Given the description of an element on the screen output the (x, y) to click on. 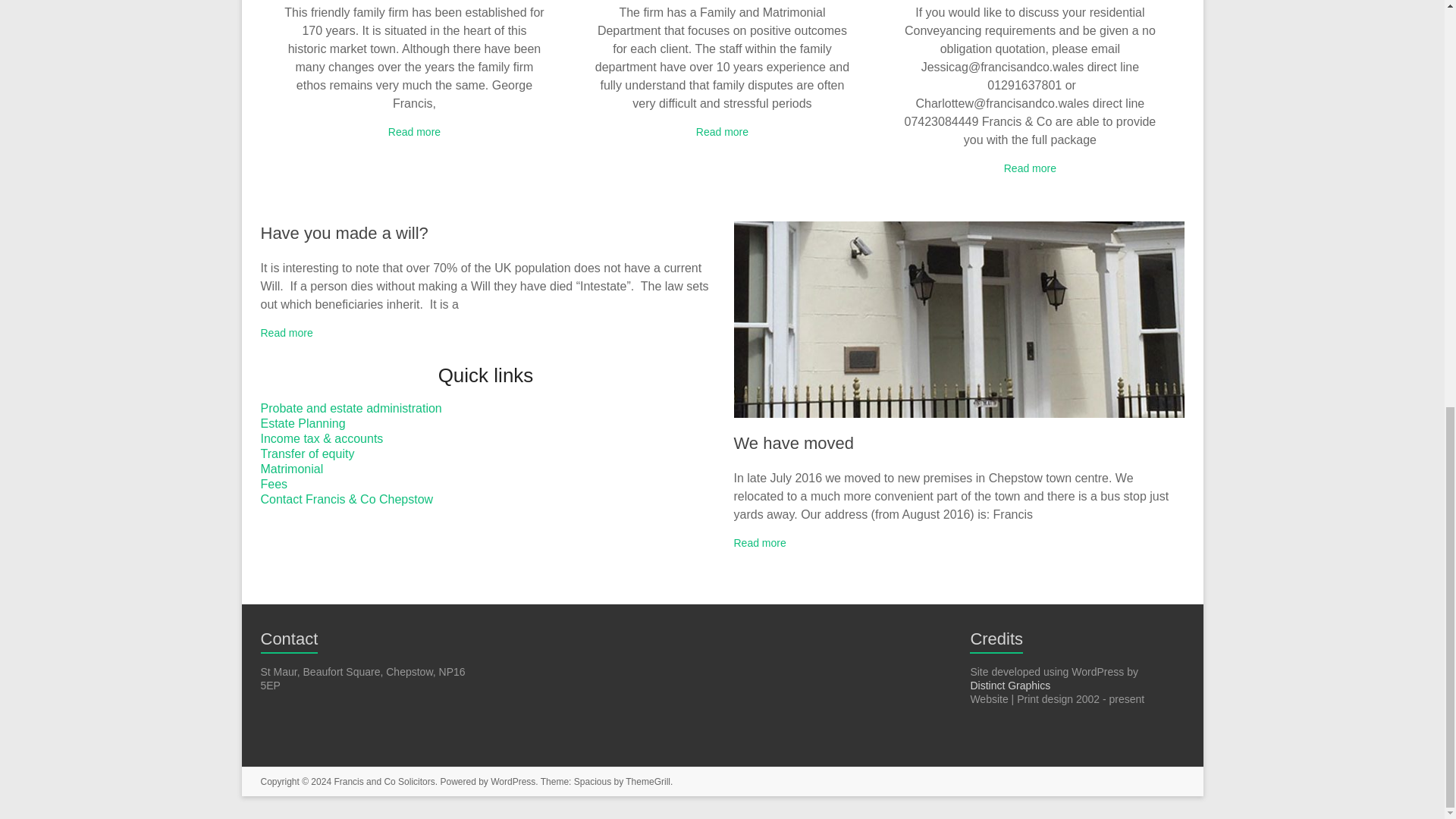
Read more (286, 332)
Read more (721, 132)
Probate and estate administration (351, 408)
About Francis and Co (414, 132)
Estate Planning (303, 422)
Conveyancing (1030, 168)
Have you made a will? (344, 232)
Francis and Co Solicitors (383, 781)
Fees (274, 483)
Transfer of equity (307, 453)
Distinct Graphics (1009, 685)
Read more (414, 132)
New offices in Chepstow (959, 319)
Have you made a will? (344, 232)
Matrimonial (291, 468)
